Given the description of an element on the screen output the (x, y) to click on. 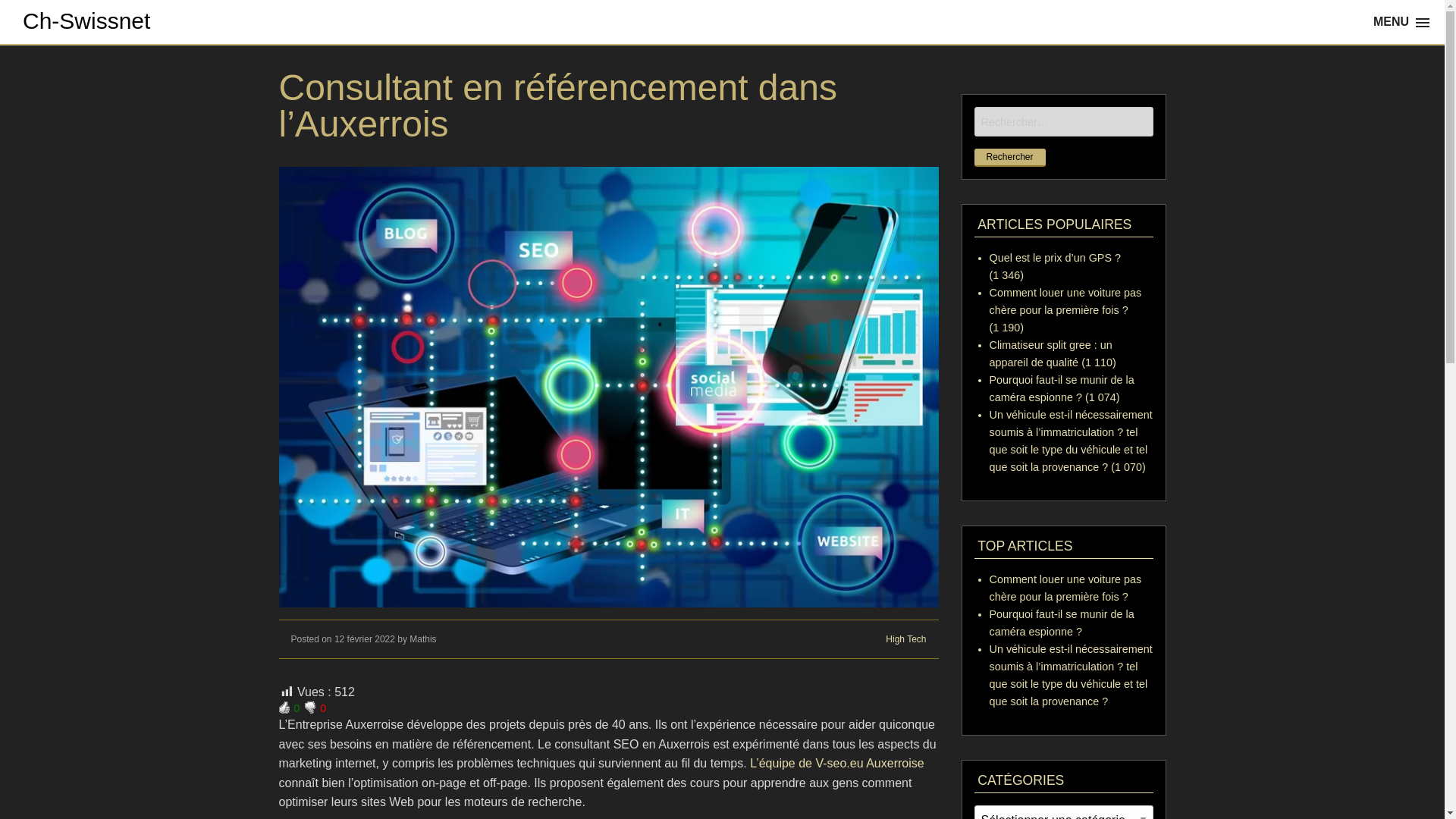
comme Element type: hover (284, 707)
High Tech Element type: text (905, 638)
MENU Element type: text (1402, 21)
Ch-Swissnet Element type: text (86, 20)
Rechercher Element type: text (1008, 157)
